Given the description of an element on the screen output the (x, y) to click on. 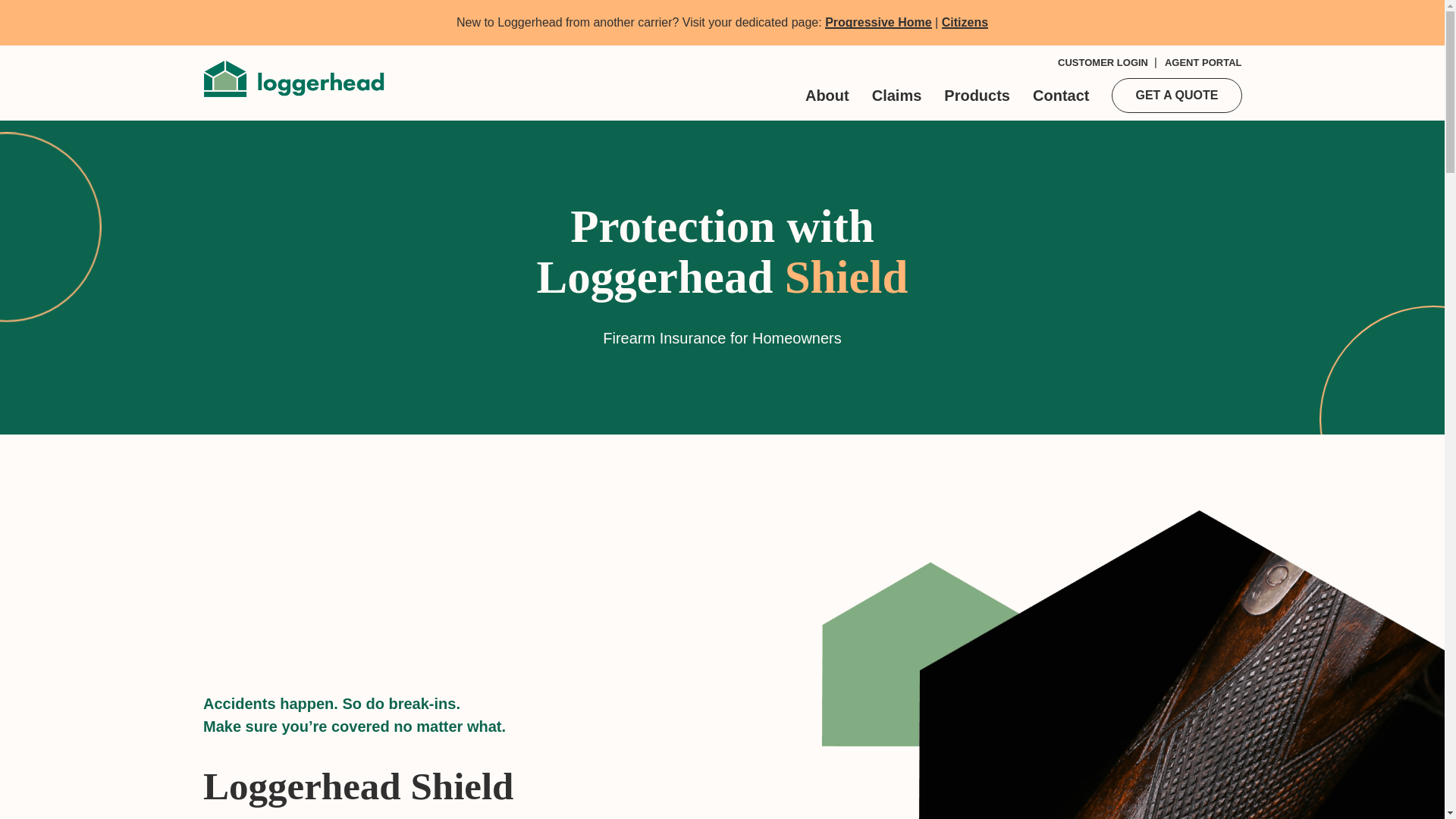
Claims (896, 95)
CUSTOMER LOGIN (1103, 61)
Products (976, 95)
GET A QUOTE (1176, 95)
Progressive Home (878, 21)
Citizens (965, 21)
AGENT PORTAL (1202, 61)
Loggerhead (293, 77)
Contact (1060, 95)
About (826, 95)
